Given the description of an element on the screen output the (x, y) to click on. 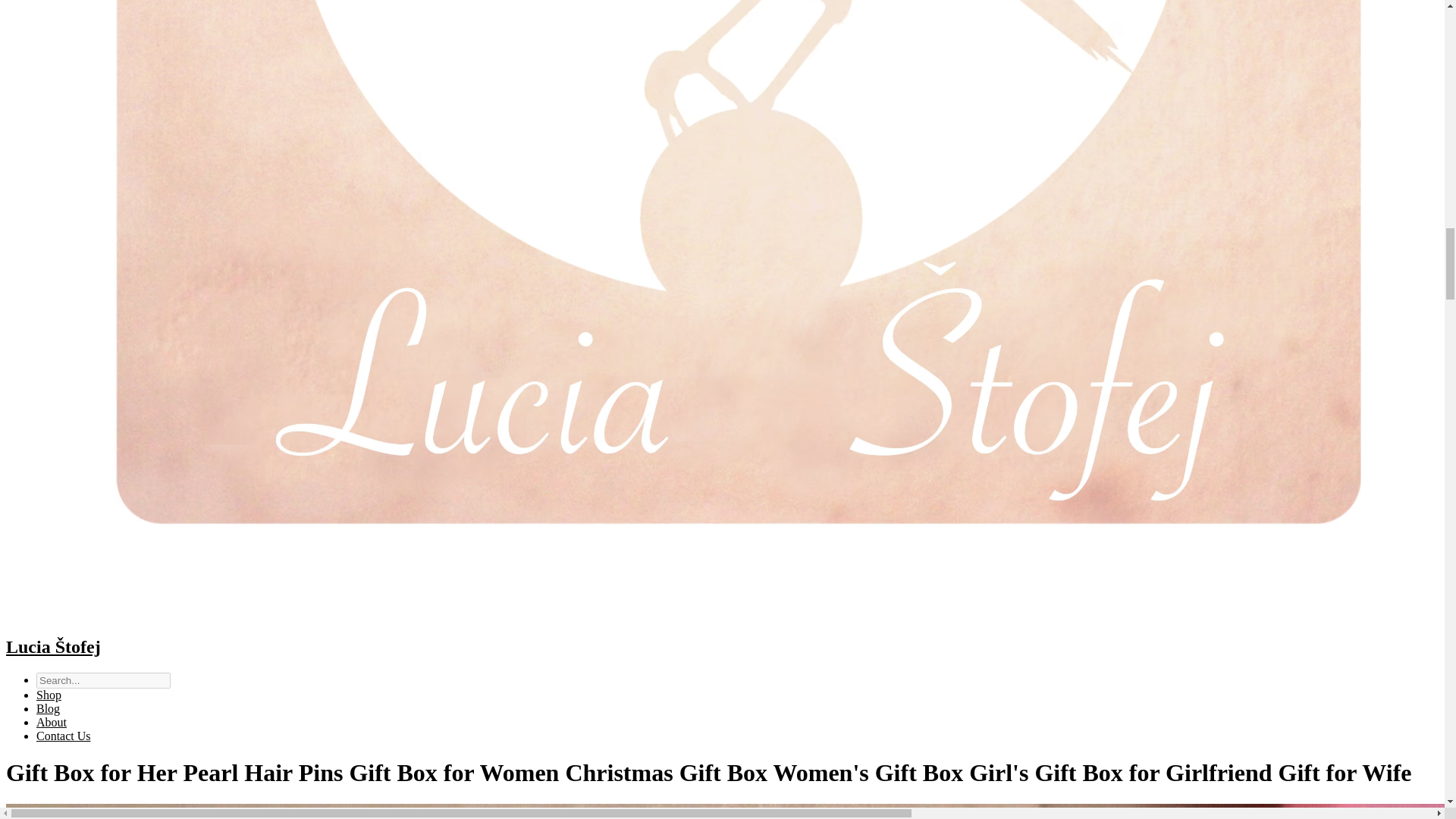
Blog (47, 707)
Contact Us (63, 735)
Shop (48, 694)
About (51, 721)
